Given the description of an element on the screen output the (x, y) to click on. 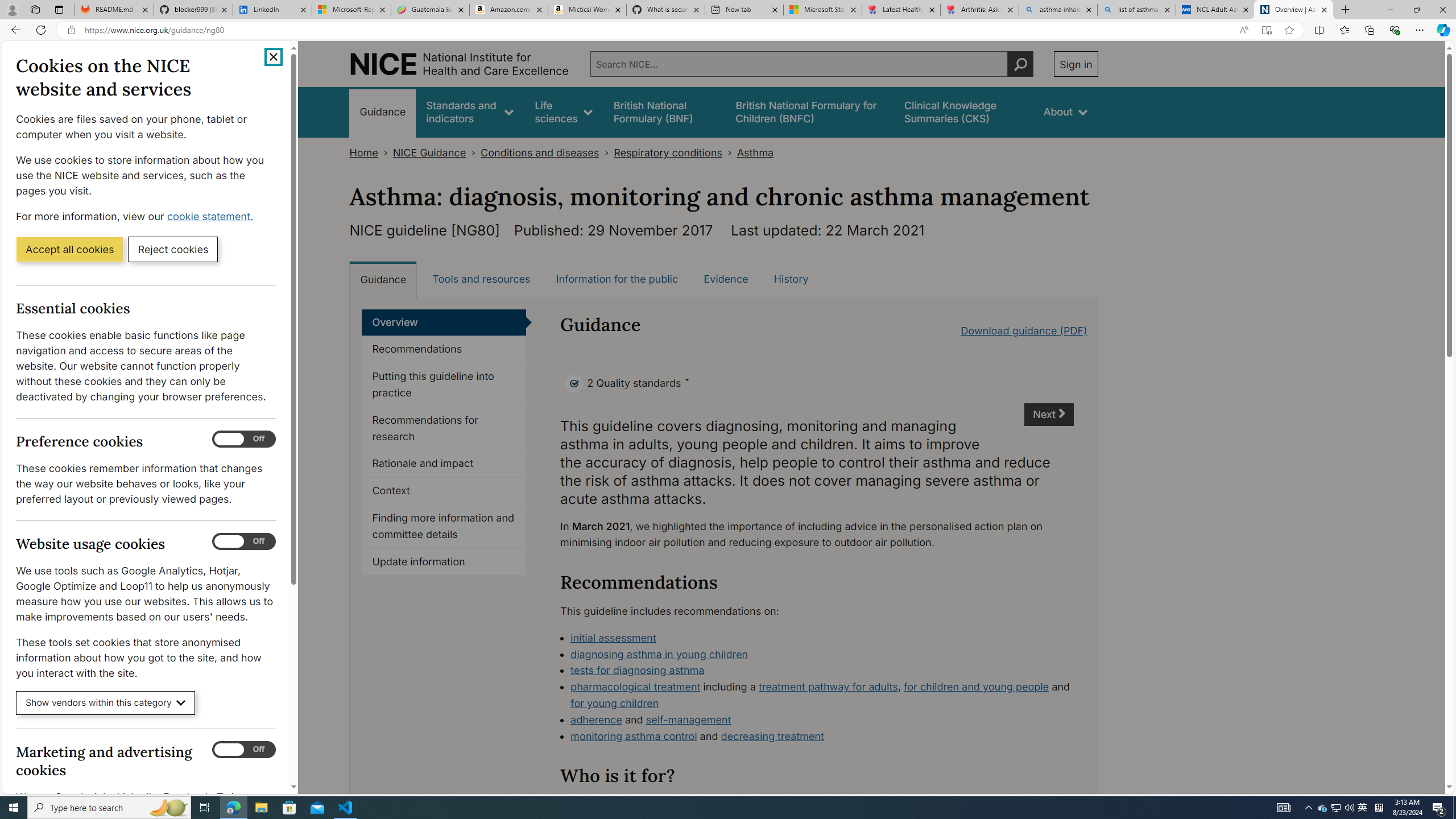
Close cookie banner (273, 56)
adherence (595, 719)
Rationale and impact (444, 463)
Finding more information and committee details (444, 526)
Context (443, 491)
Information for the public (617, 279)
tests for diagnosing asthma (637, 670)
tests for diagnosing asthma (822, 670)
